Given the description of an element on the screen output the (x, y) to click on. 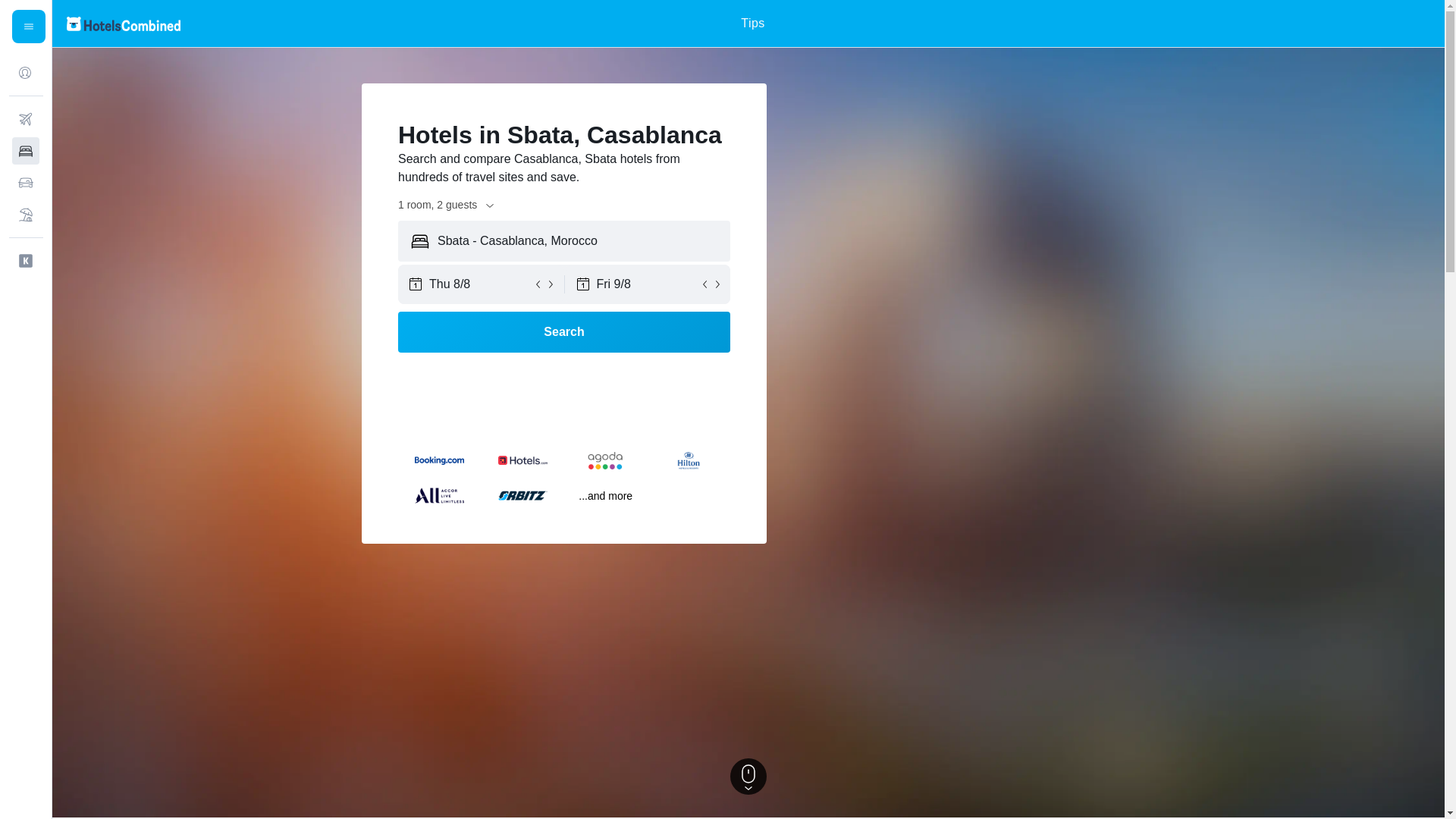
Search (563, 332)
1 room, 2 guests (446, 205)
Search (563, 332)
